Given the description of an element on the screen output the (x, y) to click on. 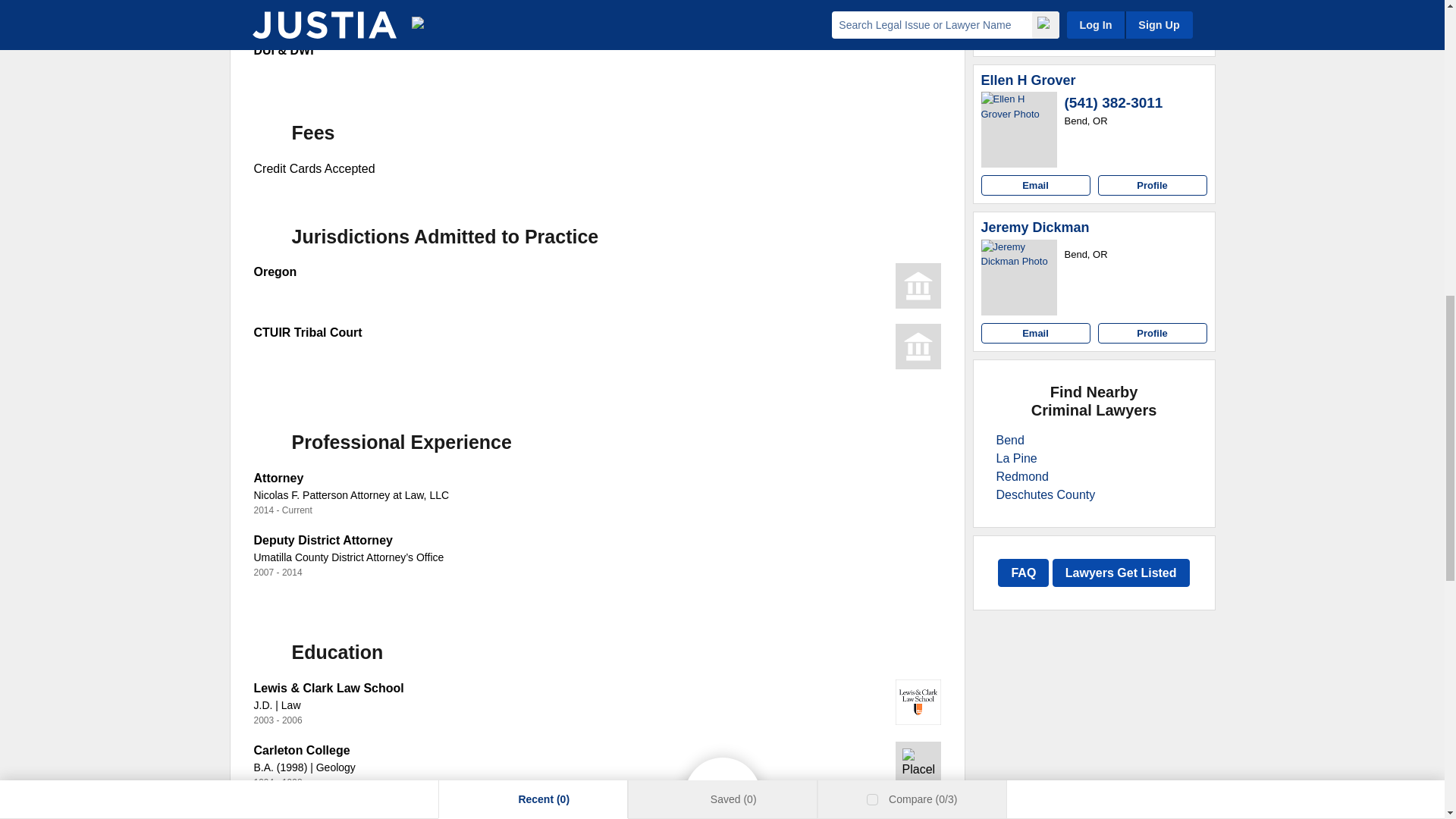
Mario F. Riquelme (1019, 4)
Jeremy Dickman (1019, 277)
Ellen H Grover (1028, 80)
Jeremy Dickman (1035, 228)
Ellen H Grover (1019, 129)
Bend Criminal Attorneys (1010, 440)
